Given the description of an element on the screen output the (x, y) to click on. 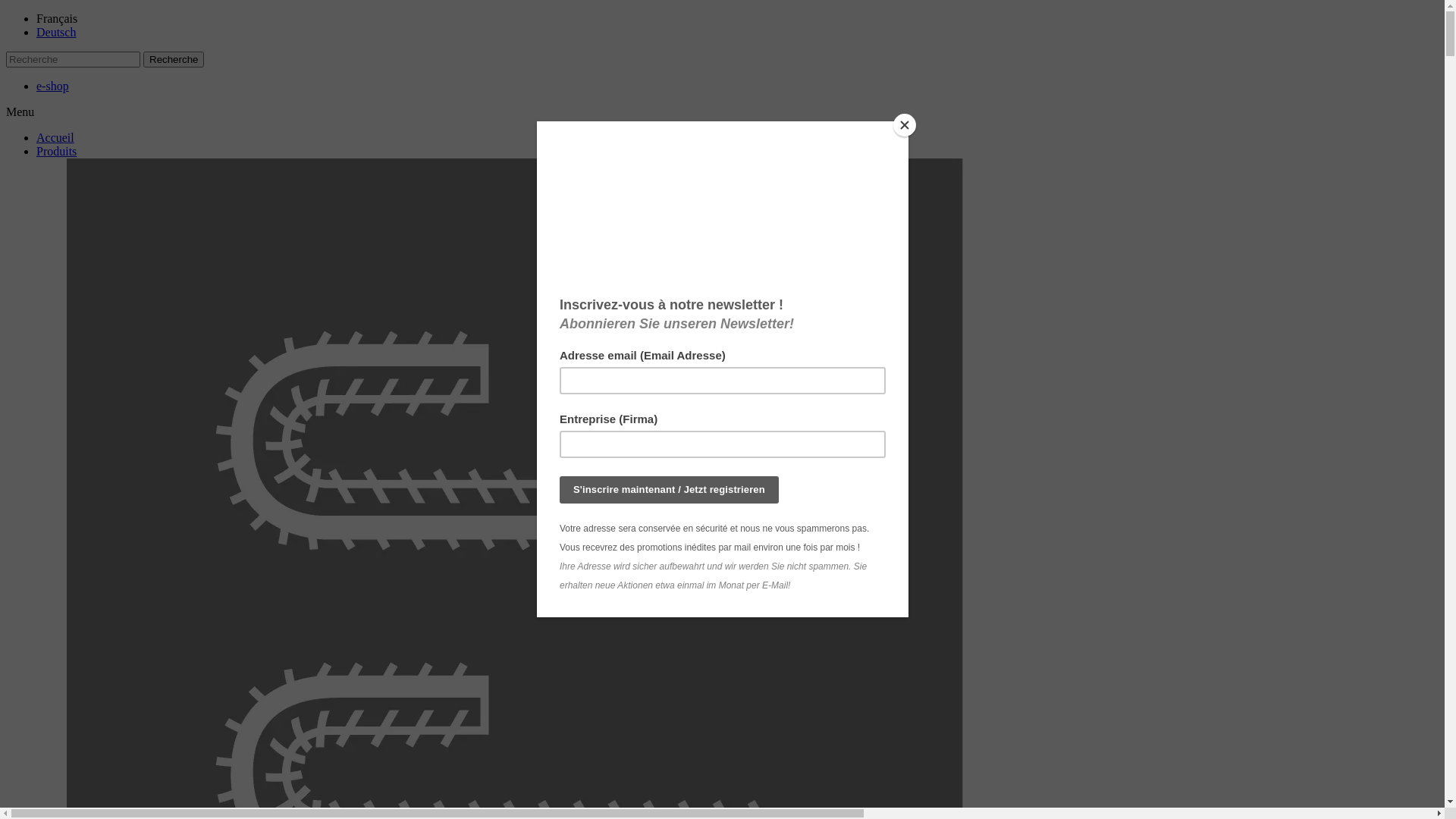
Deutsch Element type: text (55, 31)
Produits Element type: text (56, 150)
Recherche Element type: text (173, 59)
Accueil Element type: text (55, 137)
e-shop Element type: text (52, 85)
Menu Element type: text (20, 111)
